Given the description of an element on the screen output the (x, y) to click on. 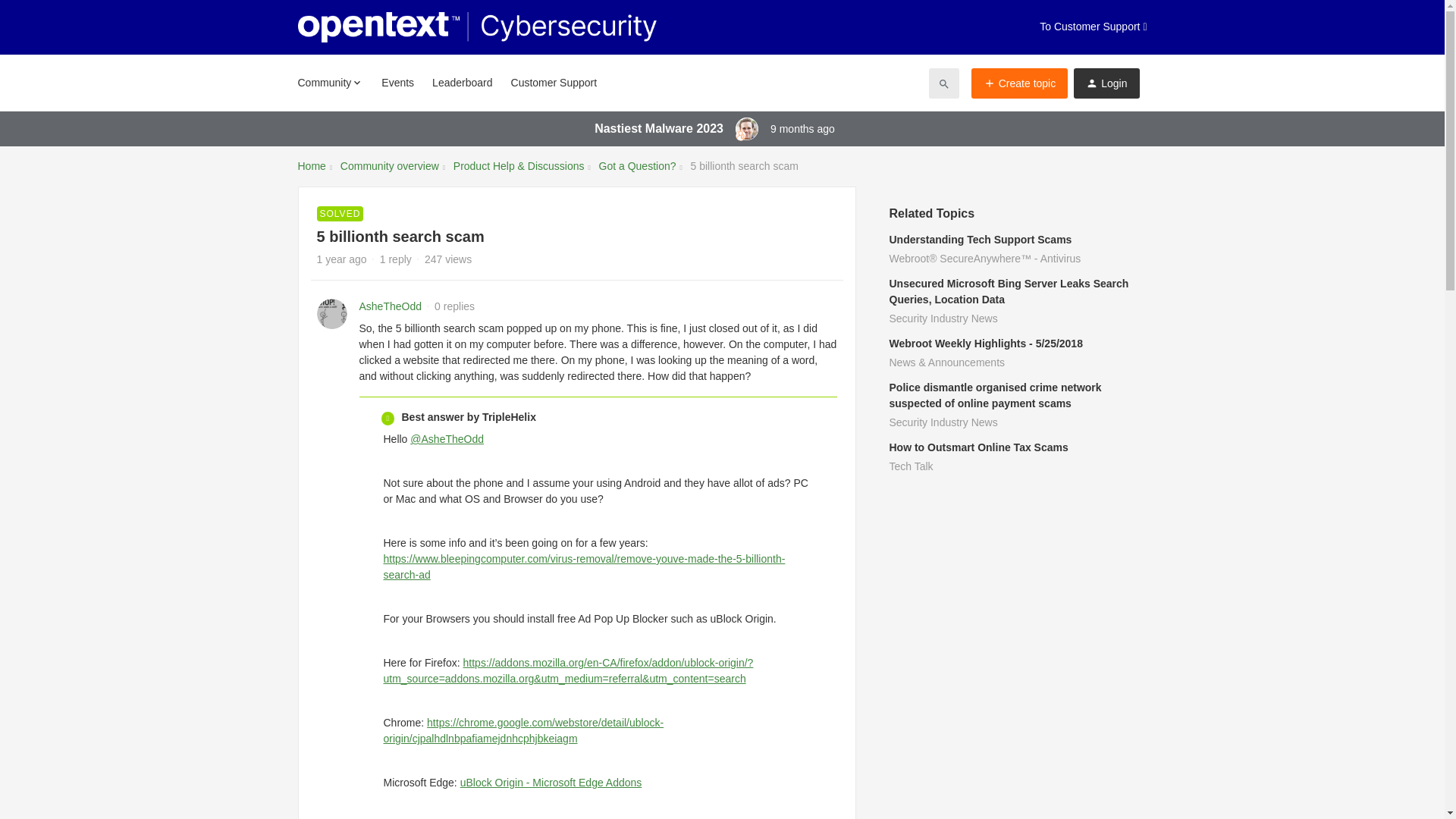
To Customer Support (1093, 26)
Community (329, 82)
